Given the description of an element on the screen output the (x, y) to click on. 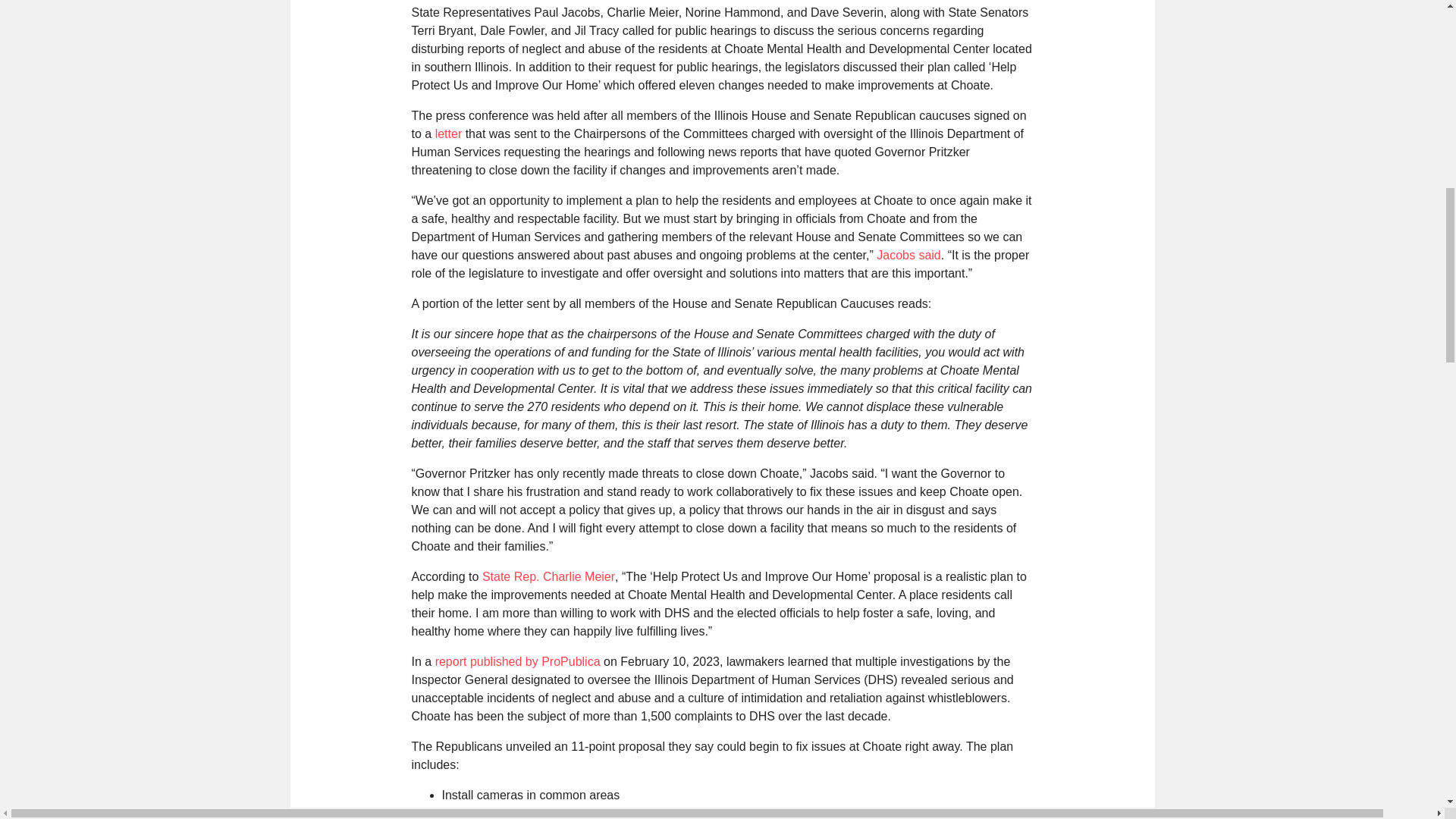
Jacobs said (908, 254)
report published by ProPublica (517, 661)
State Rep. Charlie Meier (547, 576)
letter (449, 133)
